Given the description of an element on the screen output the (x, y) to click on. 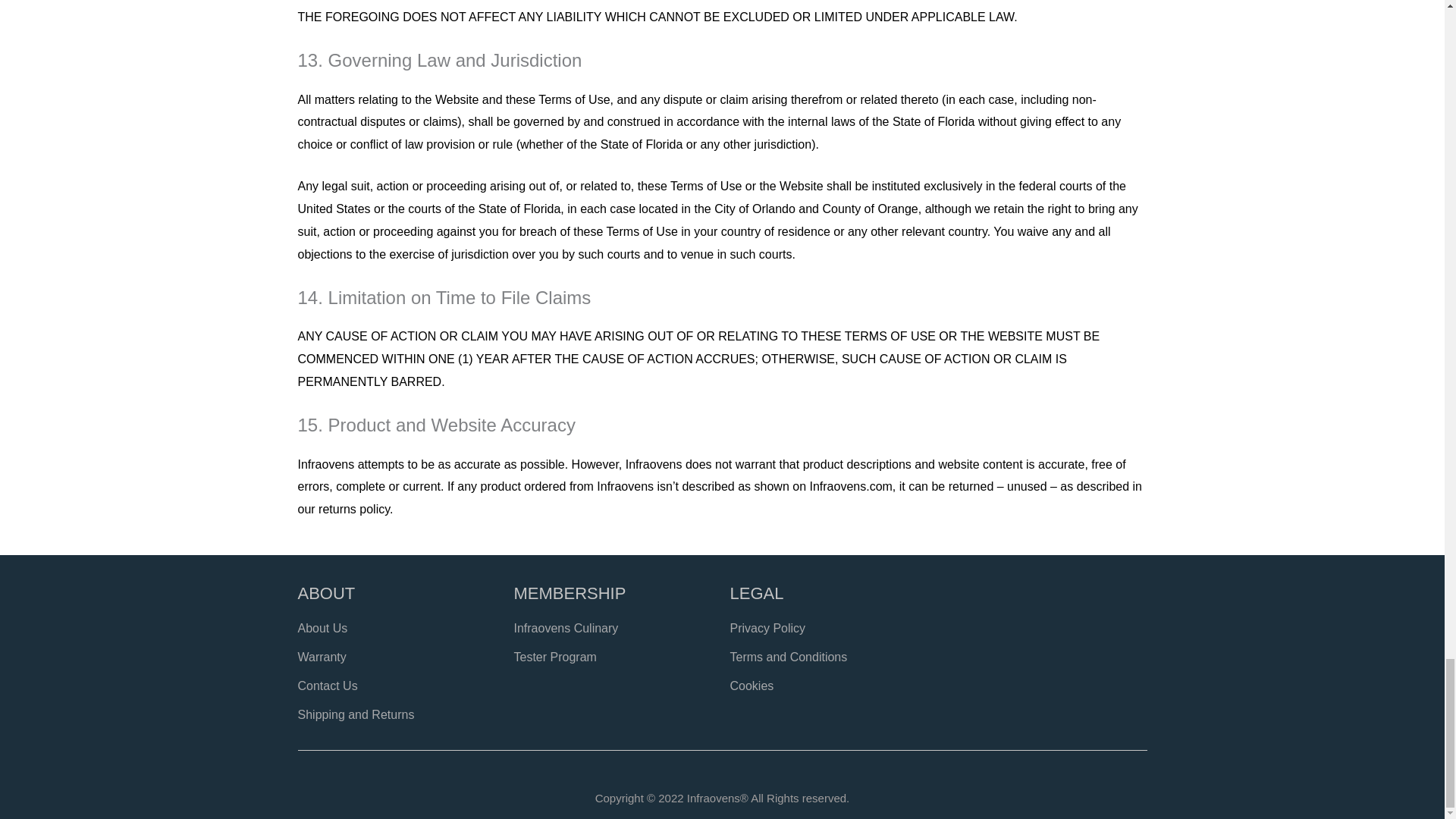
Warranty (397, 657)
Contact Us (397, 685)
Privacy Policy (829, 628)
About Us (397, 628)
Shipping and Returns (397, 714)
Cookies (829, 685)
Tester Program (613, 657)
Terms and Conditions (829, 657)
Infraovens Culinary (613, 628)
